Given the description of an element on the screen output the (x, y) to click on. 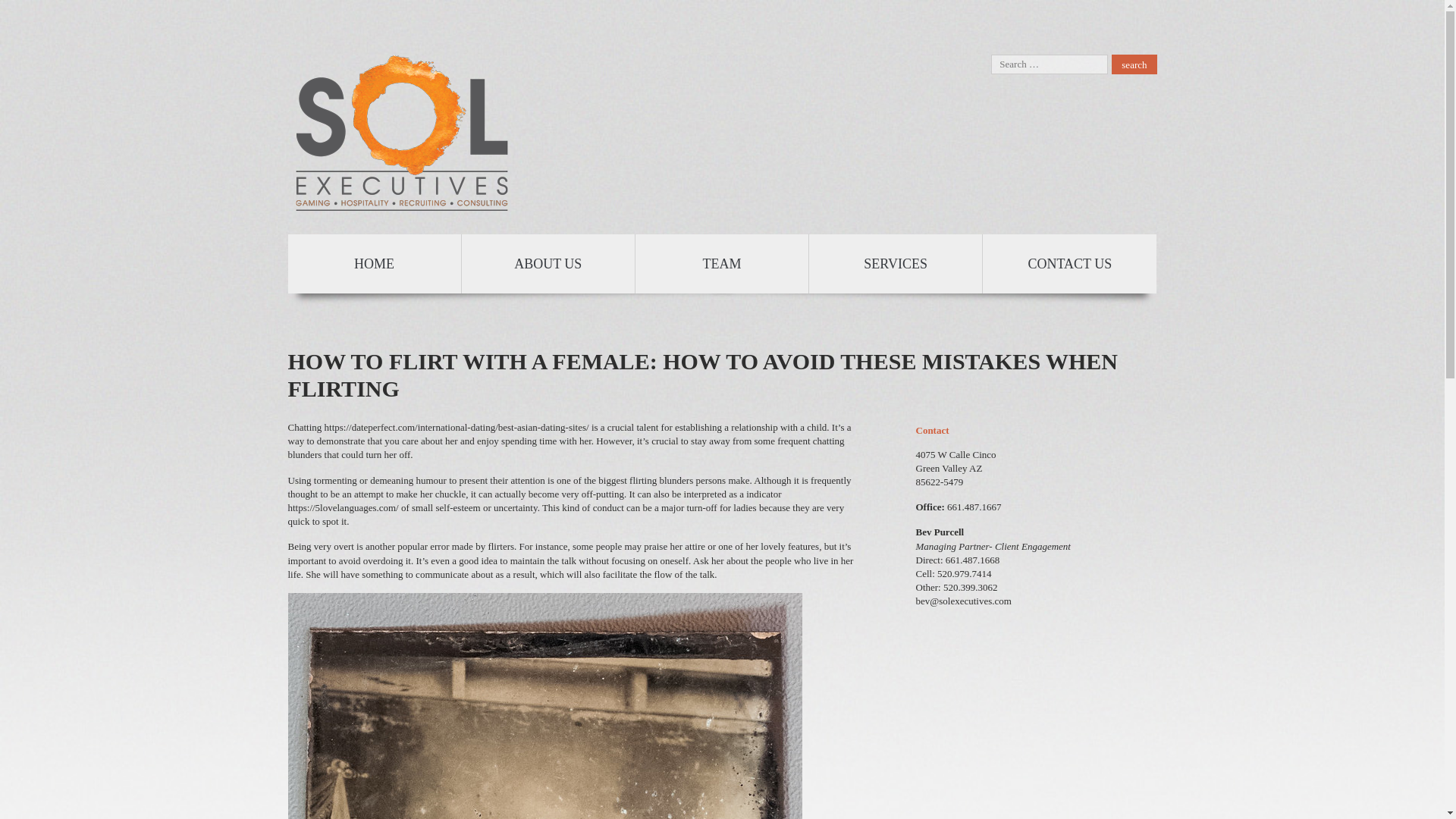
Search (1134, 64)
TEAM (721, 263)
Search (1134, 64)
Search (1134, 64)
SERVICES (895, 263)
ABOUT US (547, 263)
CONTACT US (1069, 263)
HOME (374, 263)
